Given the description of an element on the screen output the (x, y) to click on. 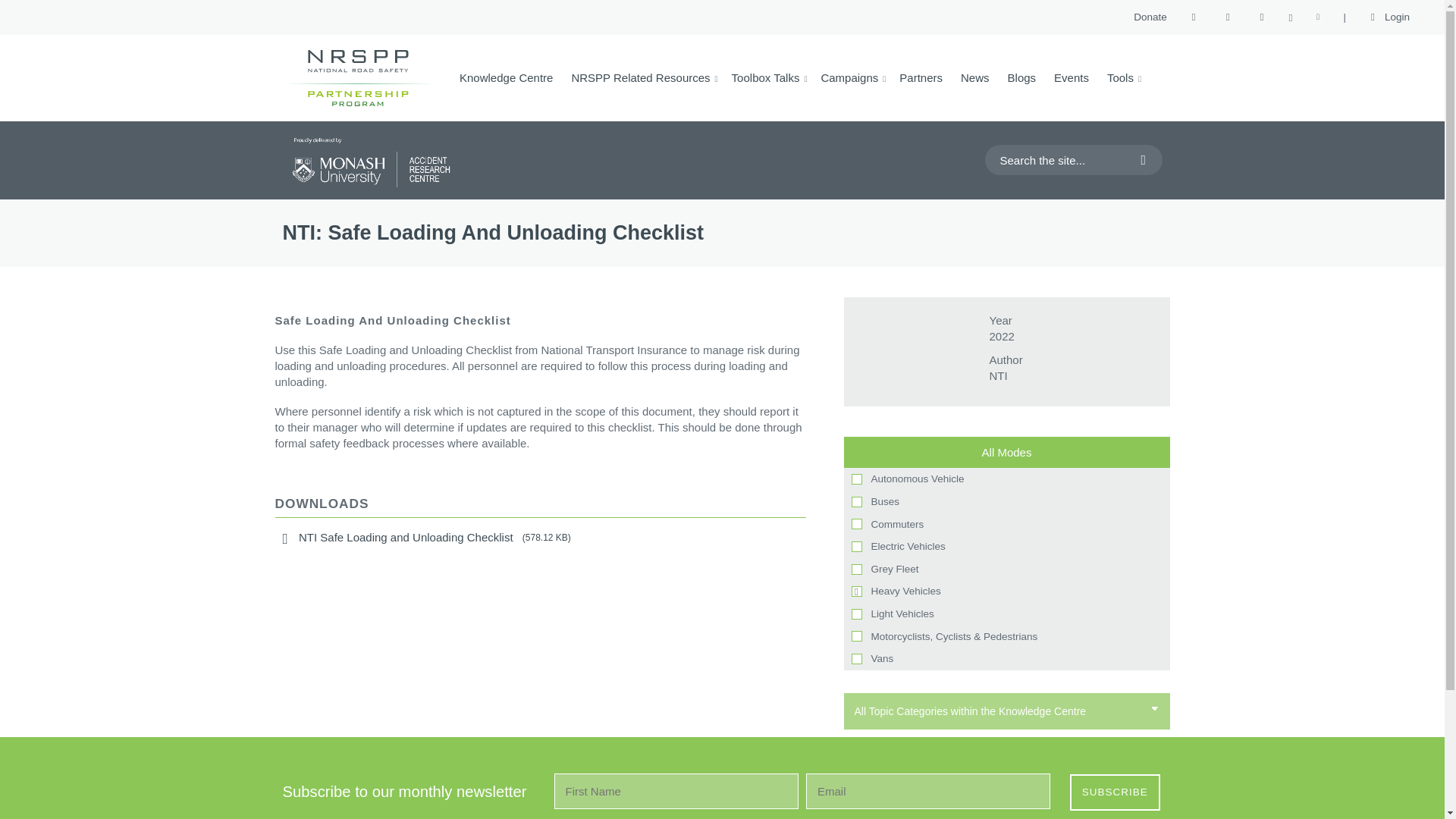
Subscribe (1115, 791)
